Given the description of an element on the screen output the (x, y) to click on. 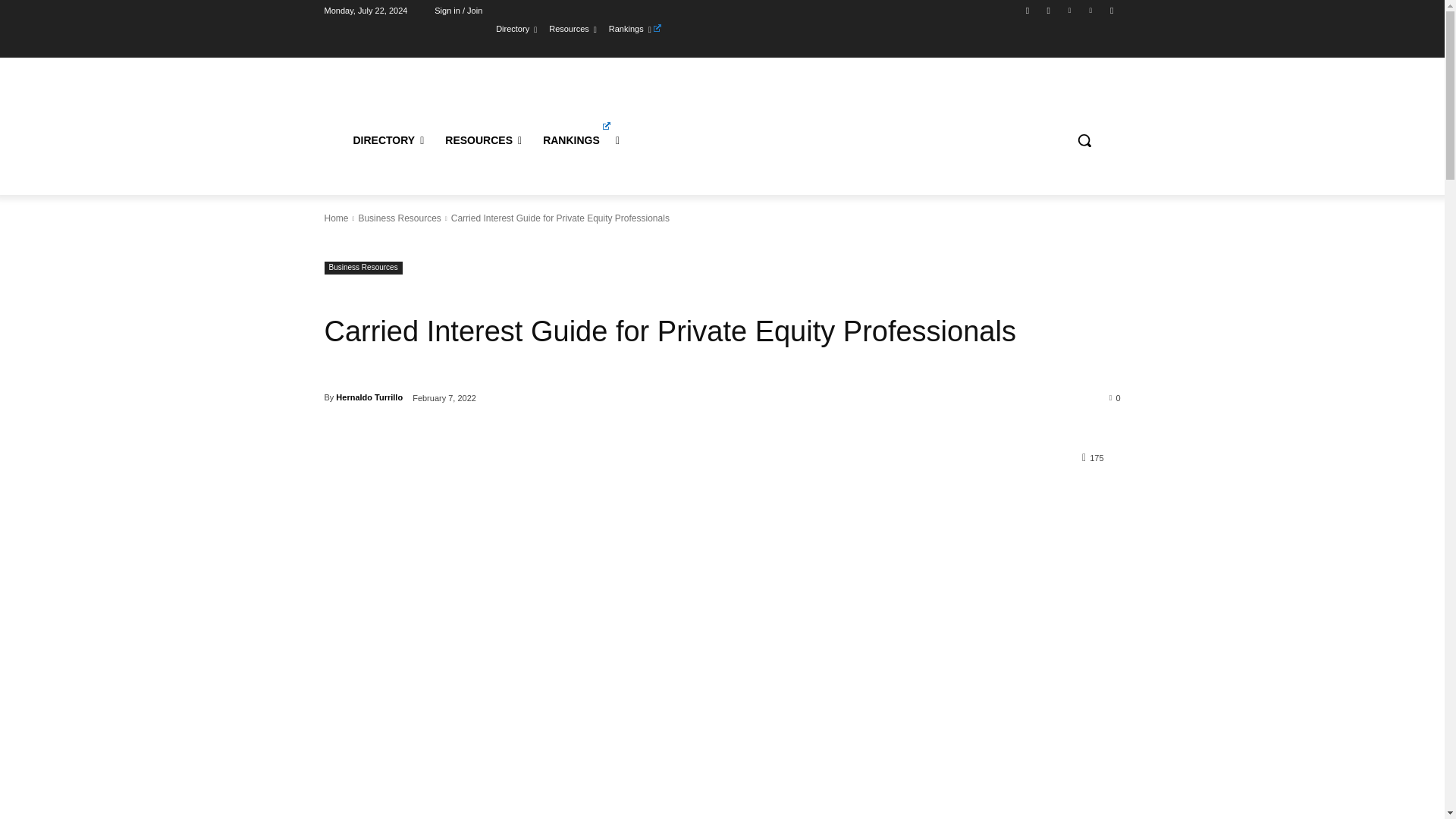
Vimeo (1090, 9)
Rankings (634, 28)
View all posts in Business Resources (399, 217)
Facebook (1027, 9)
Directory (516, 28)
Twitter (1069, 9)
Youtube (1112, 9)
Instagram (1048, 9)
Resources (572, 28)
